Given the description of an element on the screen output the (x, y) to click on. 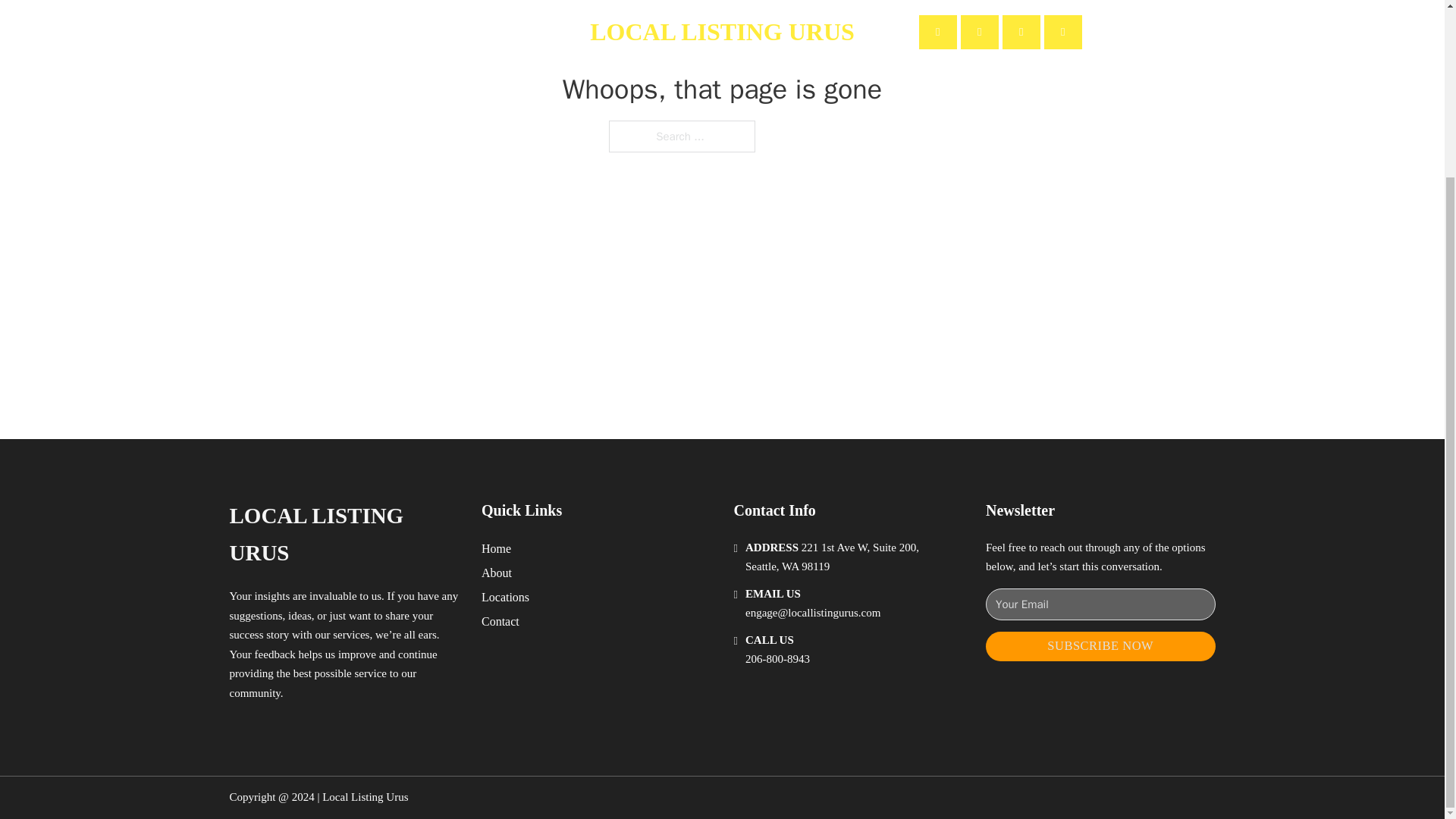
Locations (505, 597)
Home (496, 548)
LOCAL LISTING URUS (343, 534)
SUBSCRIBE NOW (1100, 645)
206-800-8943 (777, 658)
Contact (500, 620)
About (496, 572)
